Given the description of an element on the screen output the (x, y) to click on. 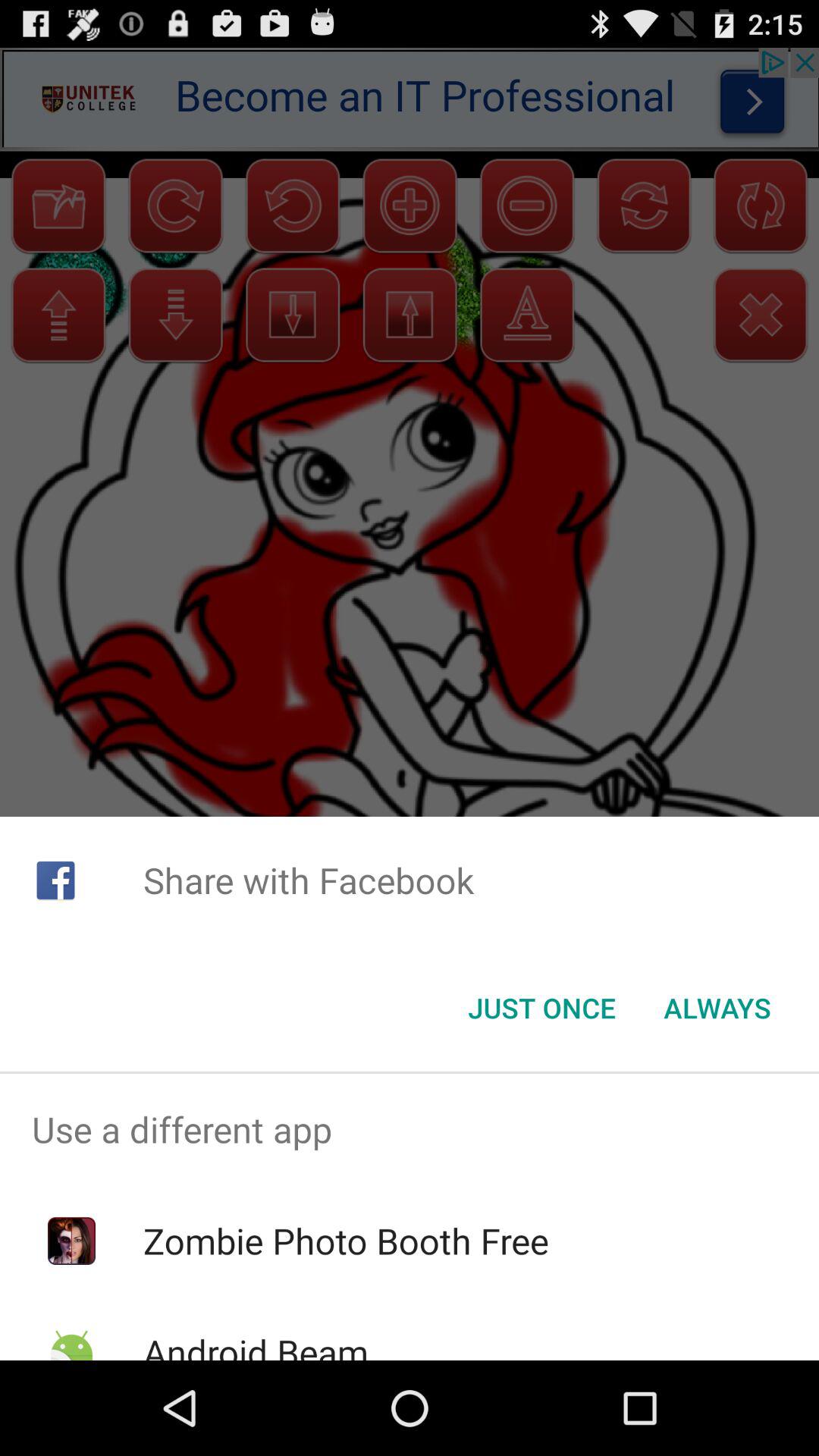
jump until use a different icon (409, 1129)
